Given the description of an element on the screen output the (x, y) to click on. 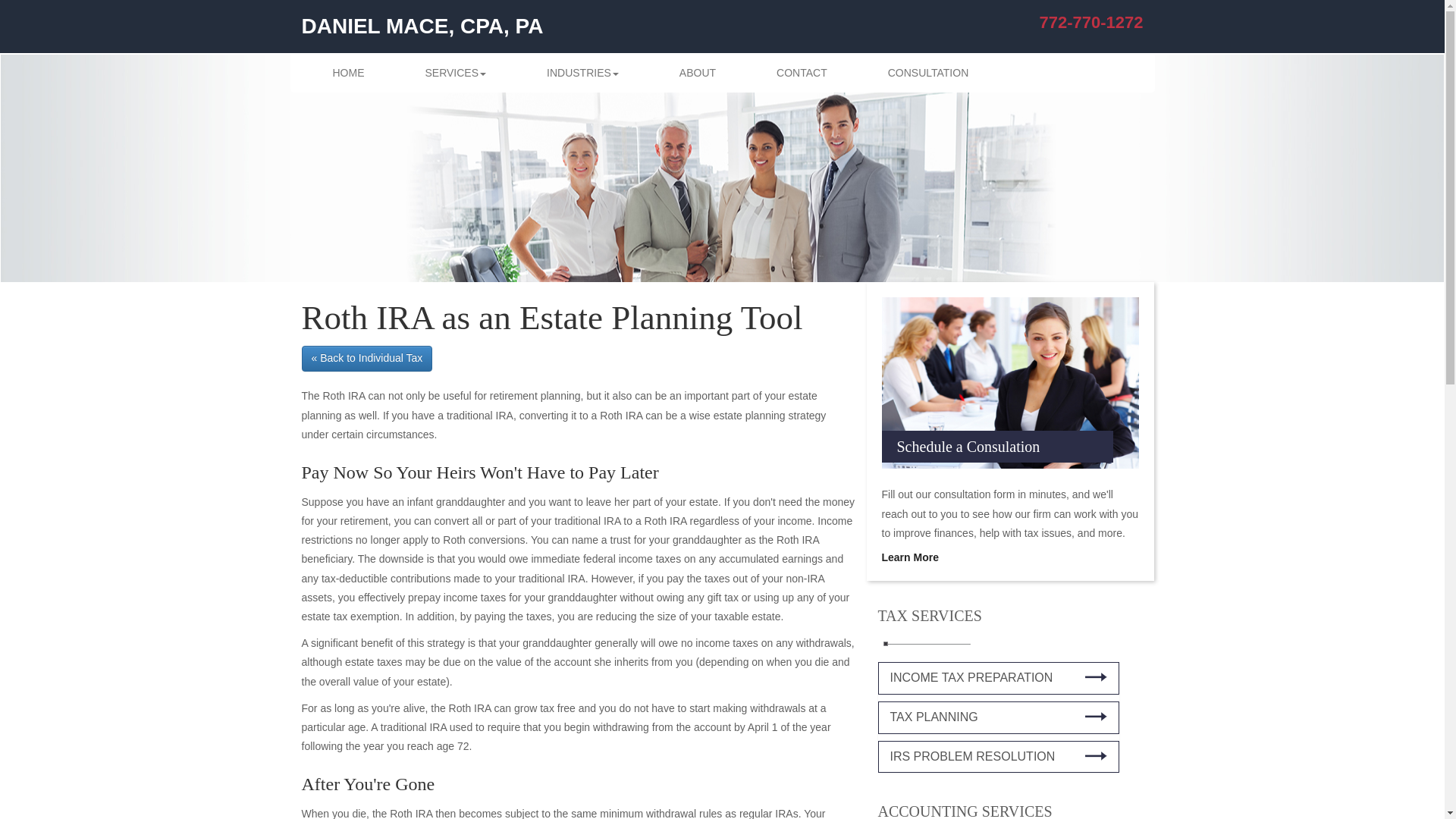
INCOME TAX PREPARATION (998, 677)
CONSULTATION (927, 72)
HOME (347, 72)
SERVICES (455, 72)
CONTACT (801, 72)
IRS PROBLEM RESOLUTION (998, 757)
Learn More (908, 557)
TAX PLANNING (998, 717)
INDUSTRIES (582, 72)
ABOUT (697, 72)
